Given the description of an element on the screen output the (x, y) to click on. 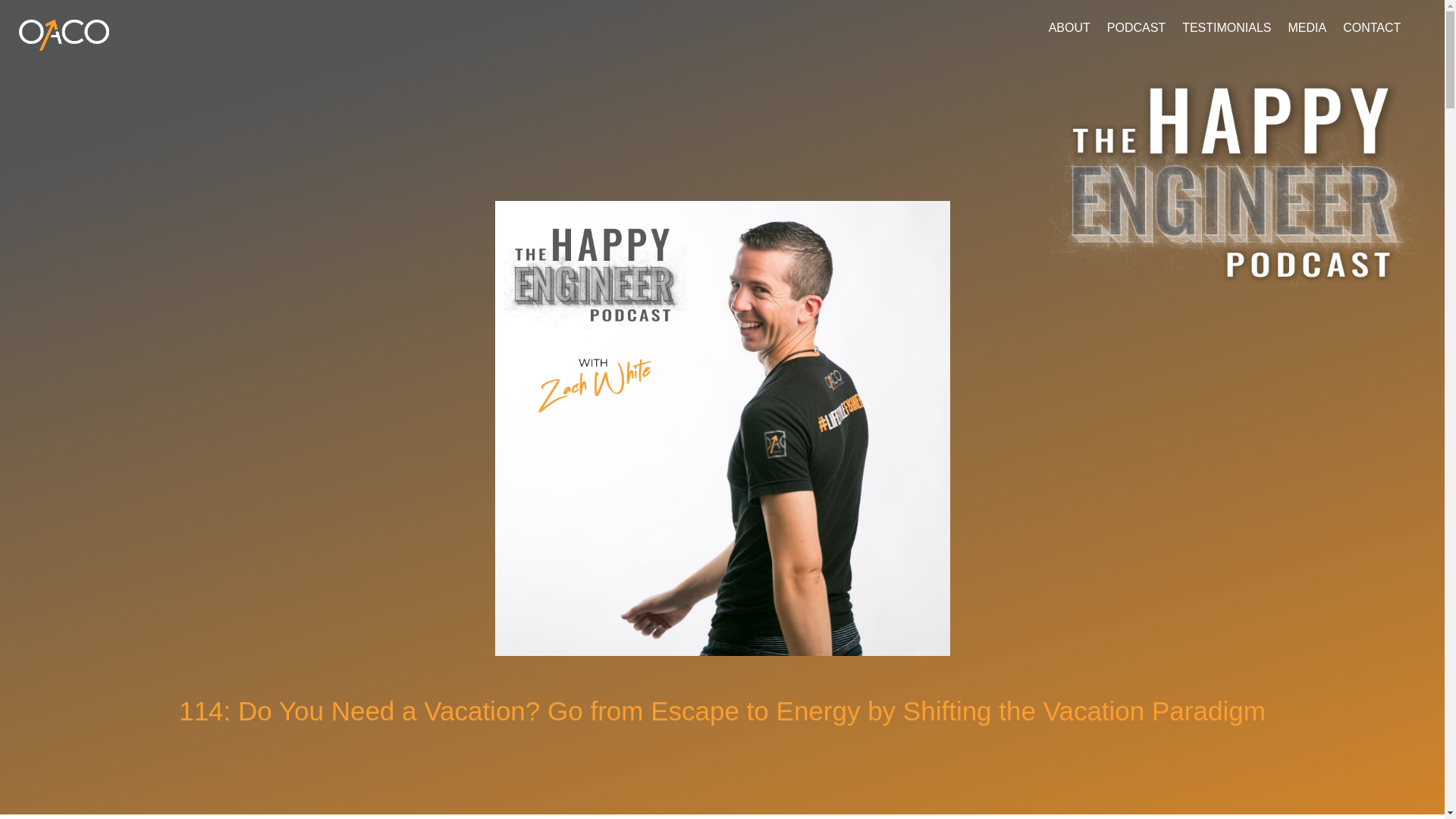
ABOUT (1069, 30)
MEDIA (1306, 30)
TESTIMONIALS (1226, 30)
CONTACT (1371, 30)
PODCAST (1136, 30)
